Given the description of an element on the screen output the (x, y) to click on. 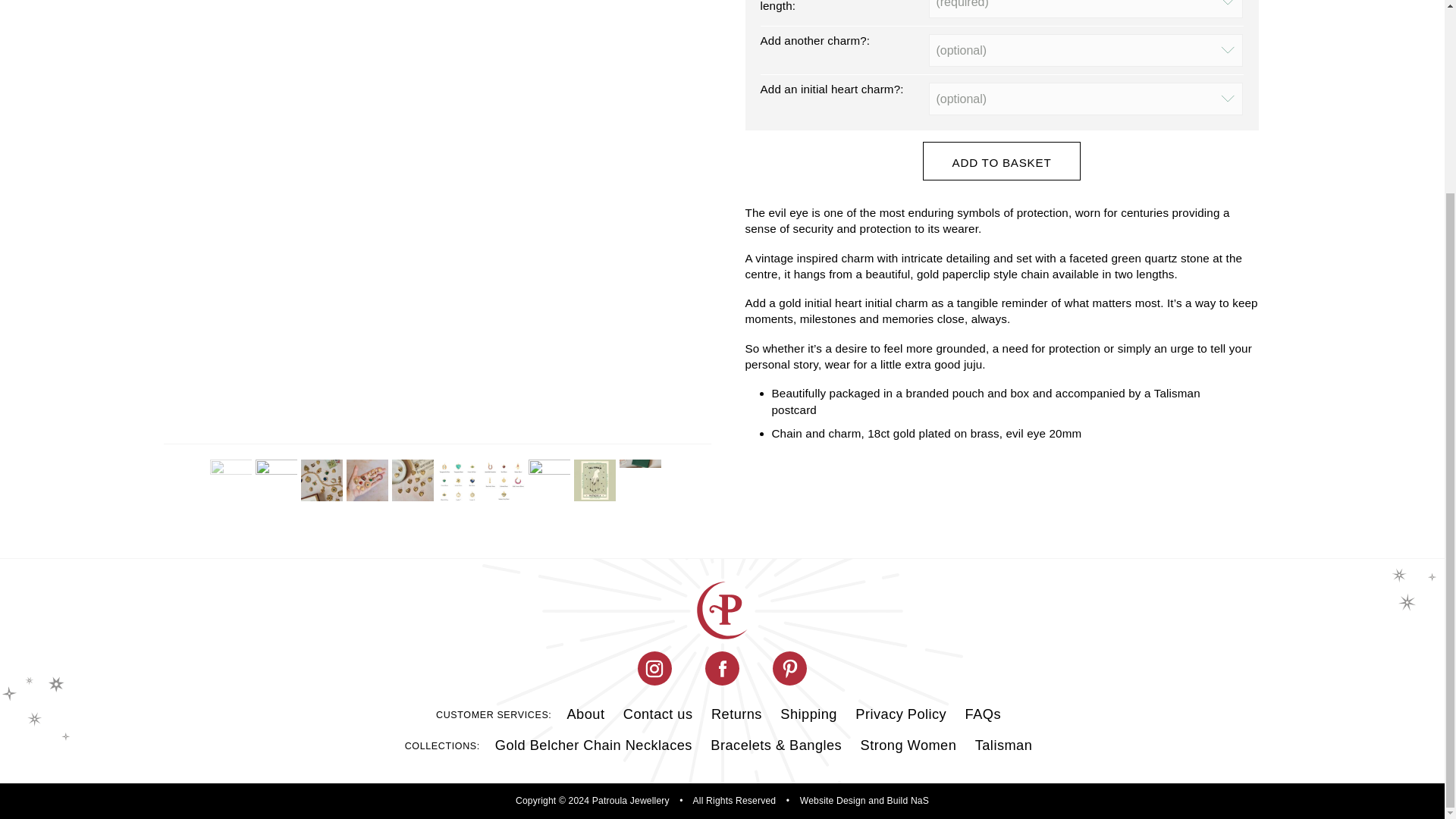
About (585, 713)
Talisman (1004, 744)
Shipping (808, 713)
FAQs (983, 713)
ADD TO BASKET (1002, 160)
Privacy Policy (900, 713)
Gold Belcher Chain Necklaces (593, 744)
Returns (736, 713)
Contact us (657, 713)
Website Design and Build NaS (863, 800)
Strong Women (908, 744)
